Given the description of an element on the screen output the (x, y) to click on. 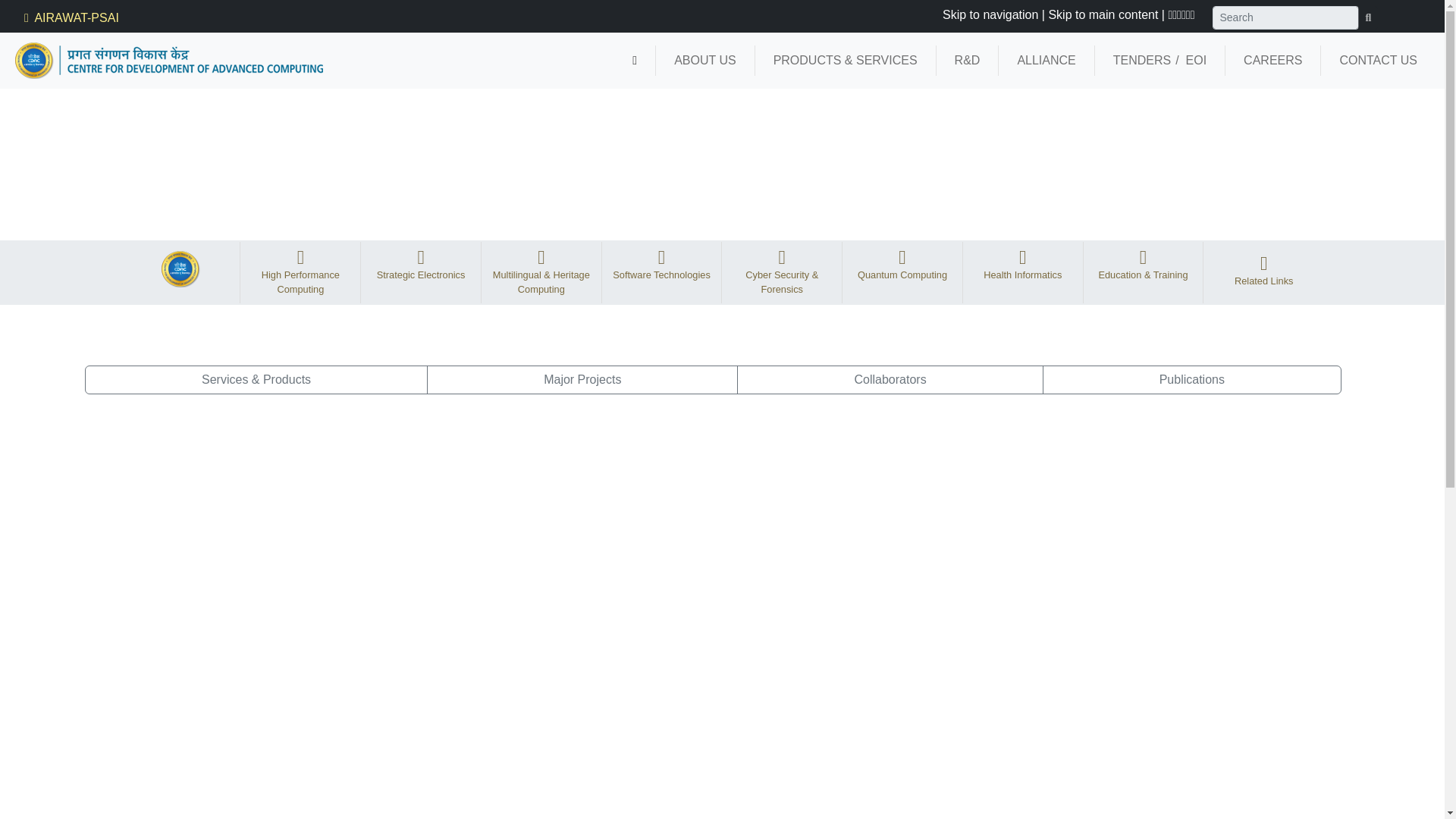
Software Technologies (661, 267)
Strategic Electronics (421, 267)
Skip to main content (1102, 14)
CAREERS (1272, 60)
AIRAWAT-PSAI (69, 17)
ALLIANCE (1045, 60)
Quantum Computing (902, 267)
CONTACT US (1377, 60)
Health Informatics (1022, 267)
ABOUT US (705, 60)
TENDERS (1141, 60)
Skip to navigation (990, 14)
High Performance Computing (300, 274)
